Given the description of an element on the screen output the (x, y) to click on. 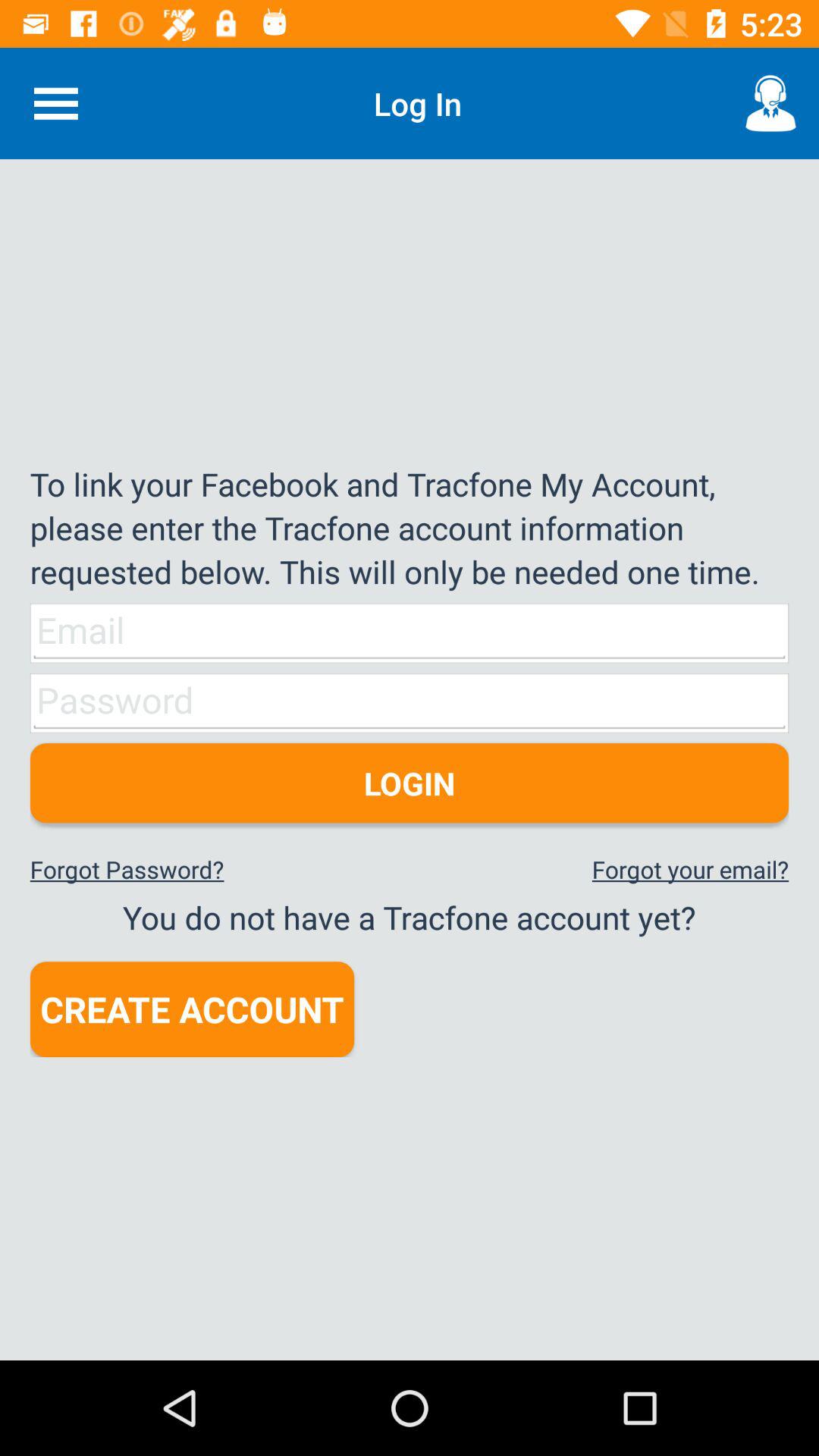
press item next to the log in icon (55, 103)
